Given the description of an element on the screen output the (x, y) to click on. 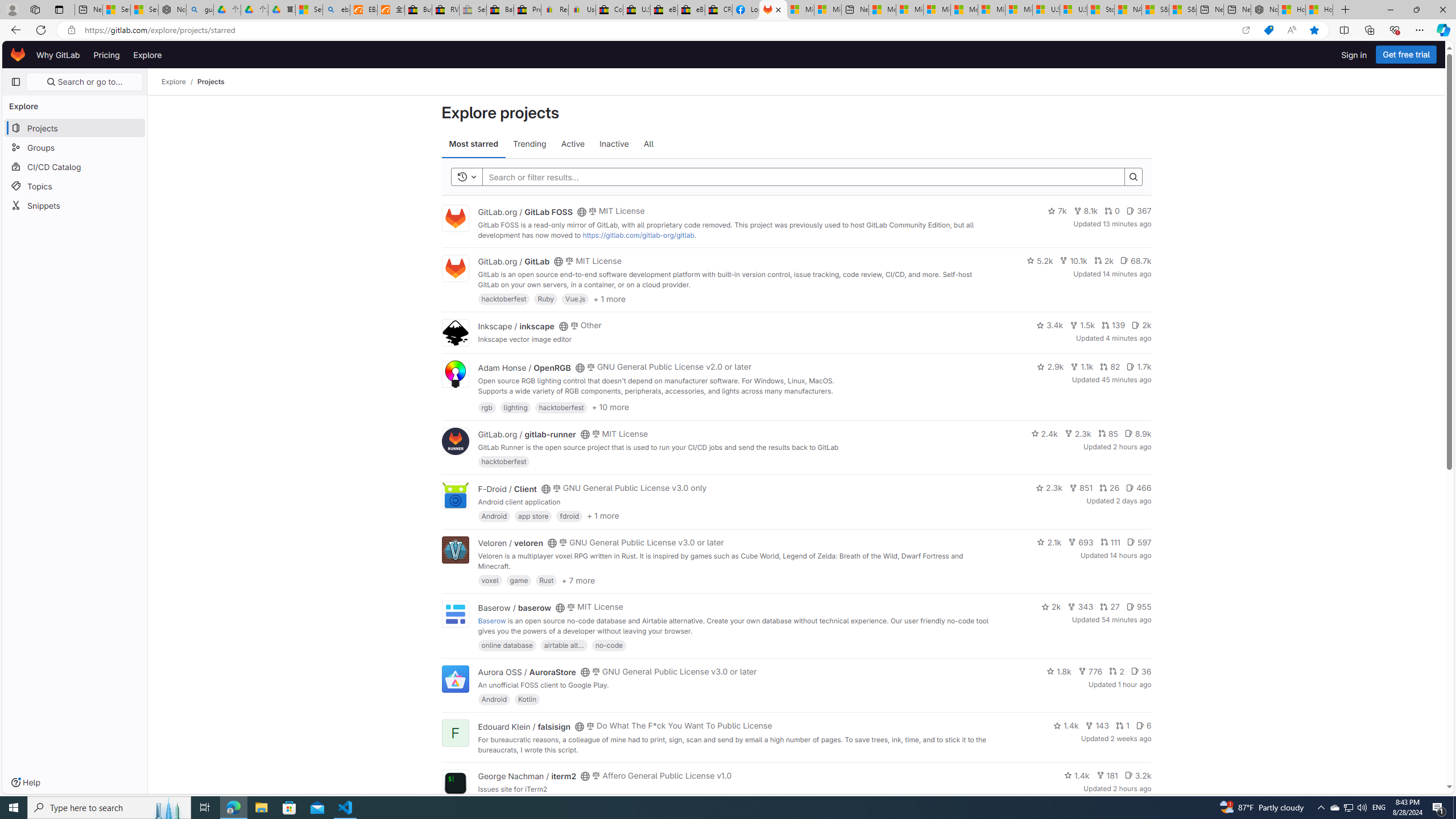
User Privacy Notice | eBay (581, 9)
343 (1080, 606)
Vue.js (575, 298)
ebay - Search (336, 9)
3.4k (1048, 325)
Get free trial (1406, 54)
Projects (211, 81)
1.8k (1058, 671)
Adam Honse / OpenRGB (523, 366)
Class: project (454, 782)
